Given the description of an element on the screen output the (x, y) to click on. 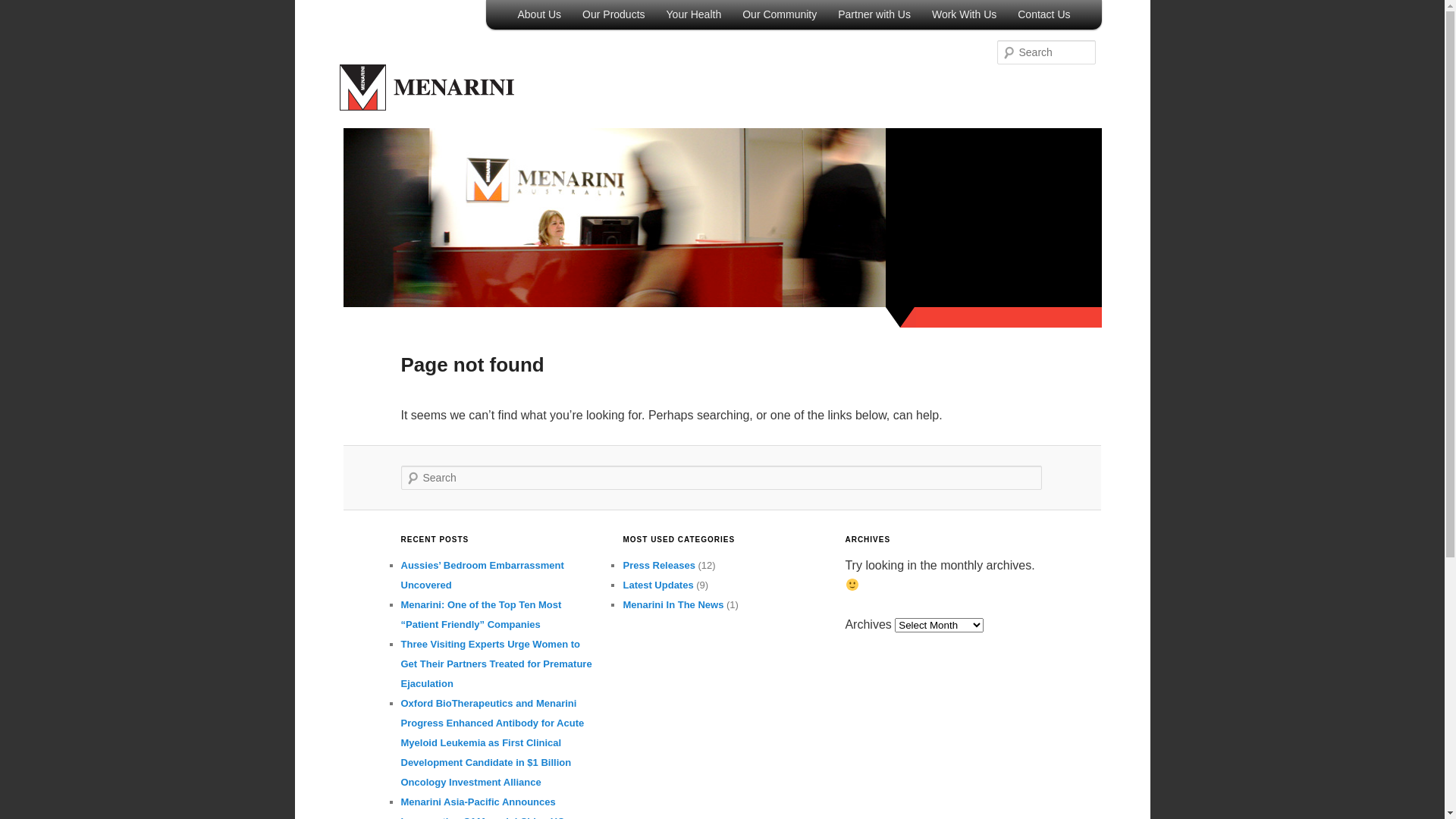
Partner with Us Element type: text (874, 14)
Search Element type: text (21, 7)
About Us Element type: text (538, 14)
Work With Us Element type: text (964, 14)
Your Health Element type: text (693, 14)
Press Releases Element type: text (658, 565)
Our Community Element type: text (779, 14)
Contact Us Element type: text (1043, 14)
Menarini Element type: hover (426, 106)
Skip to primary content Element type: text (574, 15)
Skip to secondary content Element type: text (582, 15)
Menarini In The News Element type: text (672, 604)
Our Products Element type: text (613, 14)
Latest Updates Element type: text (657, 584)
